Given the description of an element on the screen output the (x, y) to click on. 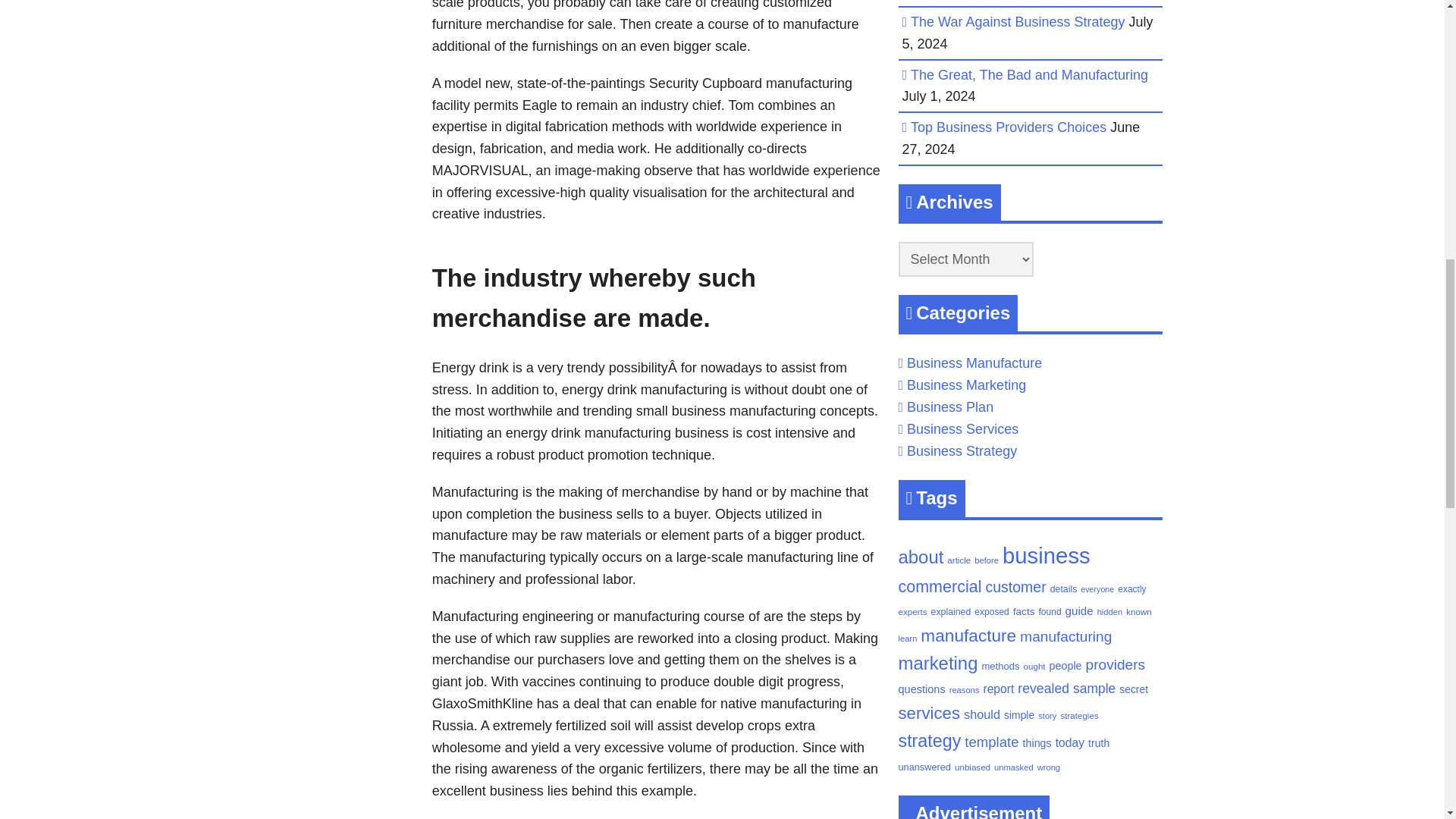
Business Marketing (966, 385)
Business Plan (949, 406)
article (959, 560)
before (986, 560)
Business Services (962, 428)
Business Manufacture (974, 363)
The War Against Business Strategy (1017, 21)
commercial (939, 587)
The Great, The Bad and Manufacturing (1029, 73)
Business Strategy (961, 450)
about (920, 557)
Top Business Providers Choices (1008, 127)
business (1046, 555)
